Given the description of an element on the screen output the (x, y) to click on. 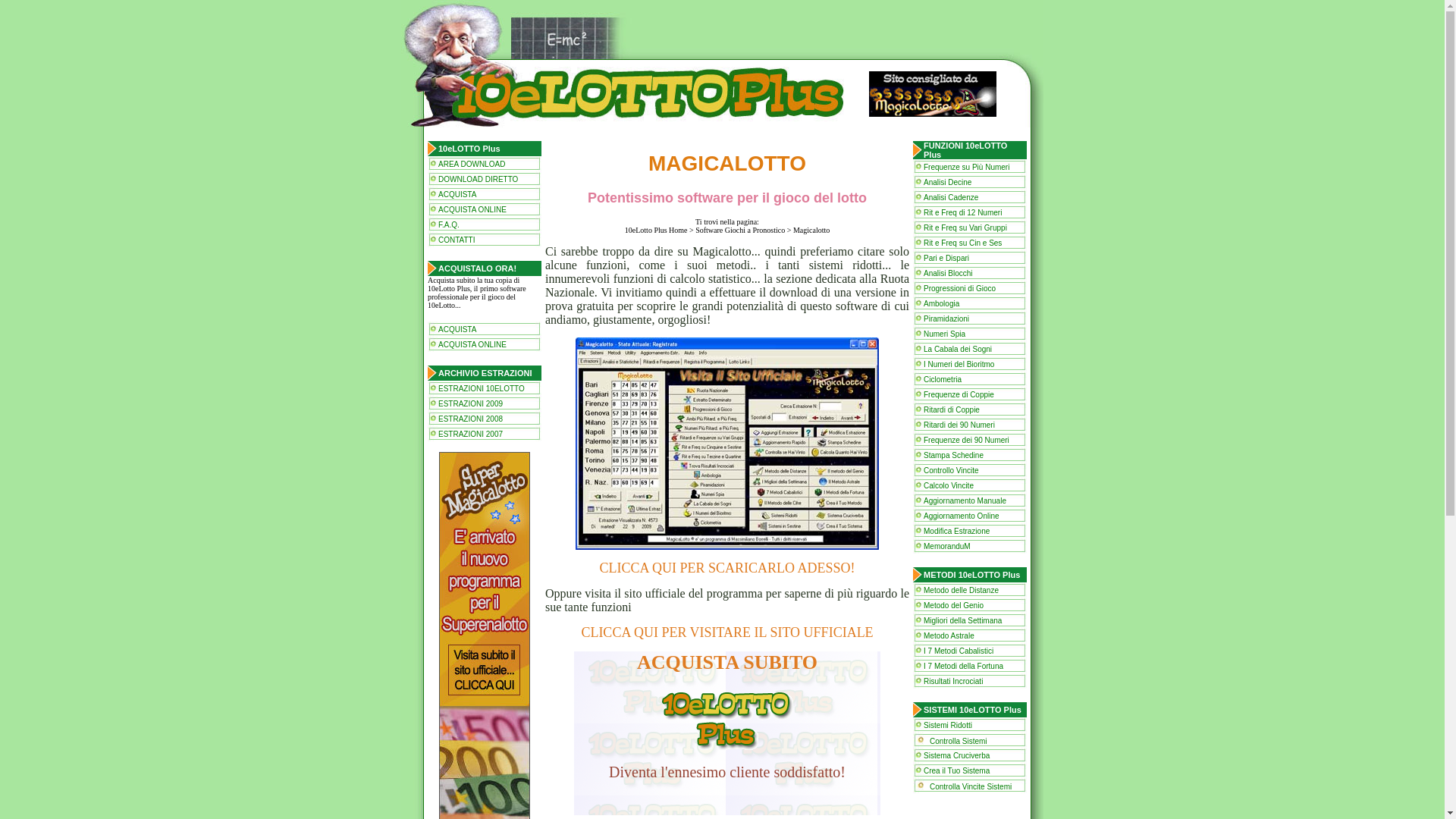
Frequenze dei 90 Numeri Element type: text (966, 439)
F.A.Q. Element type: text (448, 223)
Rit e Freq su Vari Gruppi Element type: text (965, 226)
Ritardi di Coppie Element type: text (951, 408)
Stampa Schedine Element type: text (953, 454)
Vai alla home page di 10eLottoPlus.com Element type: hover (722, 30)
Controlla Vincite Sistemi Element type: text (970, 786)
ACQUISTA ONLINE Element type: text (472, 343)
Piramidazioni Element type: text (946, 317)
ESTRAZIONI 10ELOTTO Element type: text (481, 387)
ESTRAZIONI 2008 Element type: text (470, 418)
I 7 Metodi della Fortuna Element type: text (963, 665)
Magicalotto.com software per Lotto ed affini Element type: hover (932, 93)
Frequenze di Coppie Element type: text (958, 393)
Ciclometria Element type: text (942, 378)
Calcolo Vincite Element type: text (948, 484)
MemoranduM Element type: text (946, 545)
CLICCA QUI PER SCARICARLO ADESSO! Element type: text (726, 567)
ACQUISTA ONLINE Element type: text (472, 208)
Metodo Astrale Element type: text (948, 634)
Software Giochi a Pronostico Element type: text (739, 229)
ACQUISTA Element type: text (457, 193)
Numeri Spia Element type: text (944, 333)
Controlla Sistemi Element type: text (958, 741)
Analisi Cadenze Element type: text (950, 196)
DOWNLOAD DIRETTO Element type: text (477, 178)
CLICCA QUI PER VISITARE IL SITO UFFICIALE Element type: text (726, 632)
10eLotto Plus Home Element type: text (655, 229)
Aggiornamento Manuale Element type: text (964, 499)
ACQUISTALO ORA! Element type: text (477, 268)
Vai alla home page di 10eLottoPlus.com Element type: hover (632, 93)
FUNZIONI 10eLOTTO Plus Element type: text (965, 150)
Acquista oggi stesso 10eLotto Plus! Element type: hover (726, 718)
Rit e Freq su Cin e Ses Element type: text (962, 242)
Controllo Vincite Element type: text (951, 469)
10eLOTTO Plus Element type: text (469, 148)
ACQUISTA Element type: text (457, 328)
Sistema Cruciverba Element type: text (956, 754)
Risultati Incrociati Element type: text (952, 680)
Crea il Tuo Sistema Element type: text (956, 769)
Analisi Blocchi Element type: text (947, 272)
Diventa l'ennesimo cliente soddisfatto! Element type: text (726, 771)
Metodo delle Distanze Element type: text (960, 589)
Rit e Freq di 12 Numeri Element type: text (962, 211)
I 7 Metodi Cabalistici Element type: text (958, 650)
Migliori della Settimana Element type: text (962, 619)
La Cabala dei Sogni Element type: text (957, 348)
CONTATTI Element type: text (456, 239)
ARCHIVIO ESTRAZIONI Element type: text (484, 372)
SISTEMI 10eLOTTO Plus Element type: text (972, 709)
Progressioni di Gioco Element type: text (959, 287)
Pari e Dispari Element type: text (946, 257)
Modifica Estrazione Element type: text (956, 530)
Metodo del Genio Element type: text (953, 604)
Aggiornamento Online Element type: text (961, 515)
Analisi Decine Element type: text (947, 181)
Ambologia Element type: text (941, 302)
ESTRAZIONI 2007 Element type: text (470, 433)
ESTRAZIONI 2009 Element type: text (470, 402)
AREA DOWNLOAD Element type: text (471, 163)
Ritardi dei 90 Numeri Element type: text (958, 424)
Sistemi Ridotti Element type: text (947, 724)
I Numeri del Bioritmo Element type: text (958, 363)
ACQUISTA SUBITO Element type: text (727, 662)
METODI 10eLOTTO Plus Element type: text (971, 574)
